Given the description of an element on the screen output the (x, y) to click on. 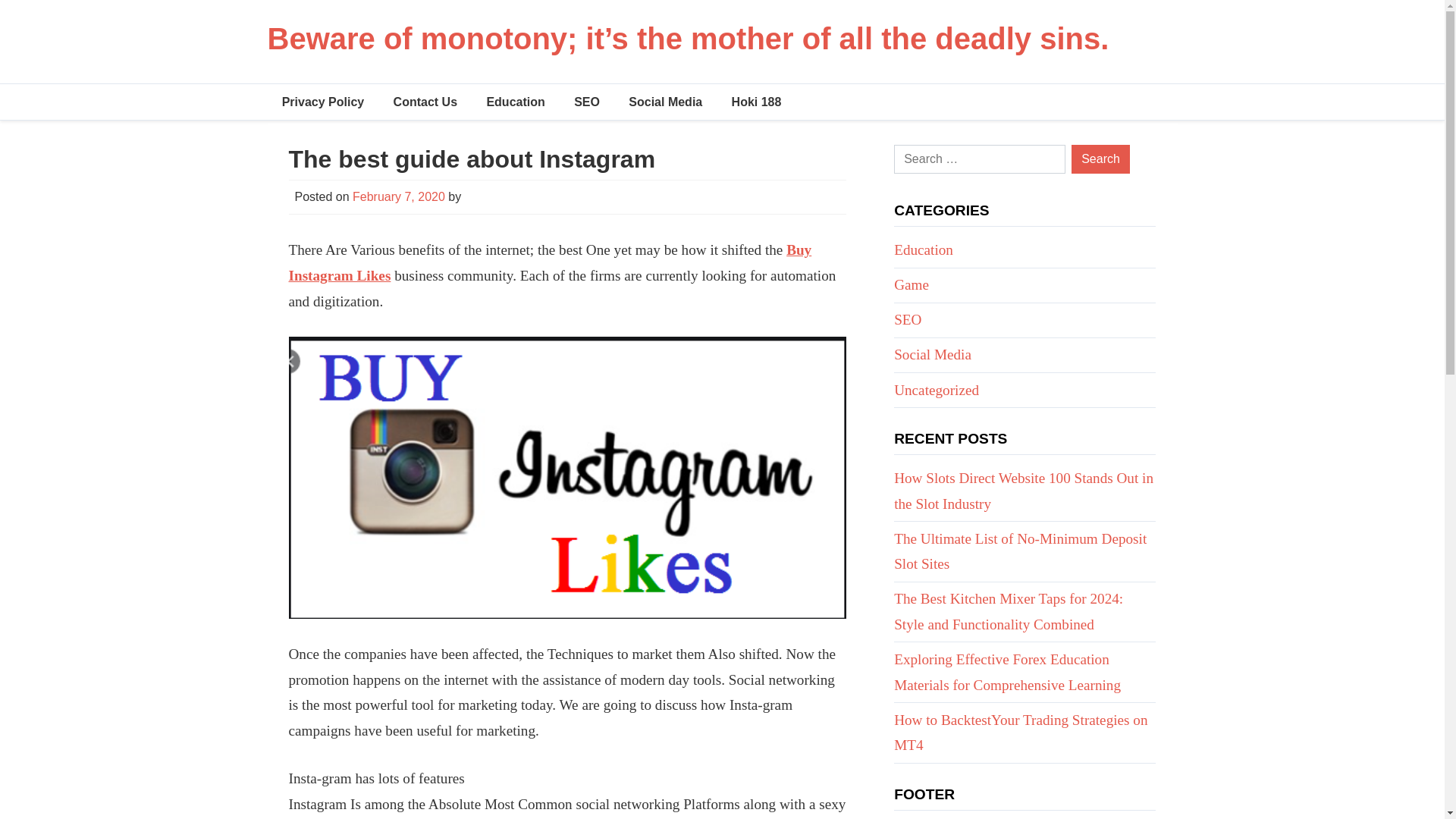
Game (910, 284)
Social Media (932, 354)
Privacy Policy (322, 101)
Education (515, 101)
Social Media (665, 101)
Search (1100, 158)
How Slots Direct Website 100 Stands Out in the Slot Industry (1023, 490)
How to BacktestYour Trading Strategies on MT4 (1020, 732)
Hoki 188 (755, 101)
